Given the description of an element on the screen output the (x, y) to click on. 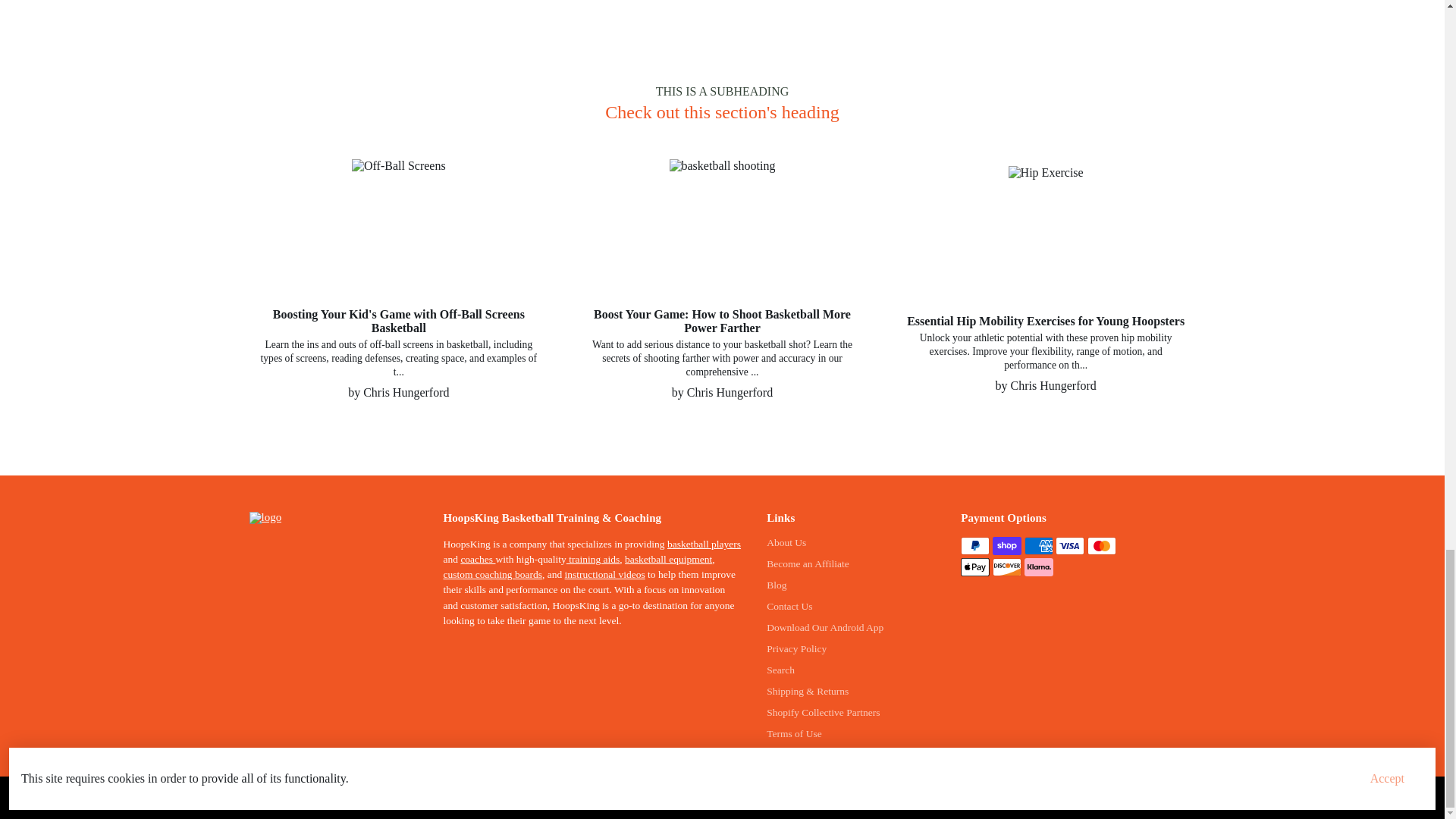
Apple Pay (975, 566)
Discover (1007, 566)
Visa (1069, 546)
Shop Pay (1007, 546)
Klarna (1038, 566)
PayPal (975, 546)
American Express (1038, 546)
Mastercard (1101, 546)
